Given the description of an element on the screen output the (x, y) to click on. 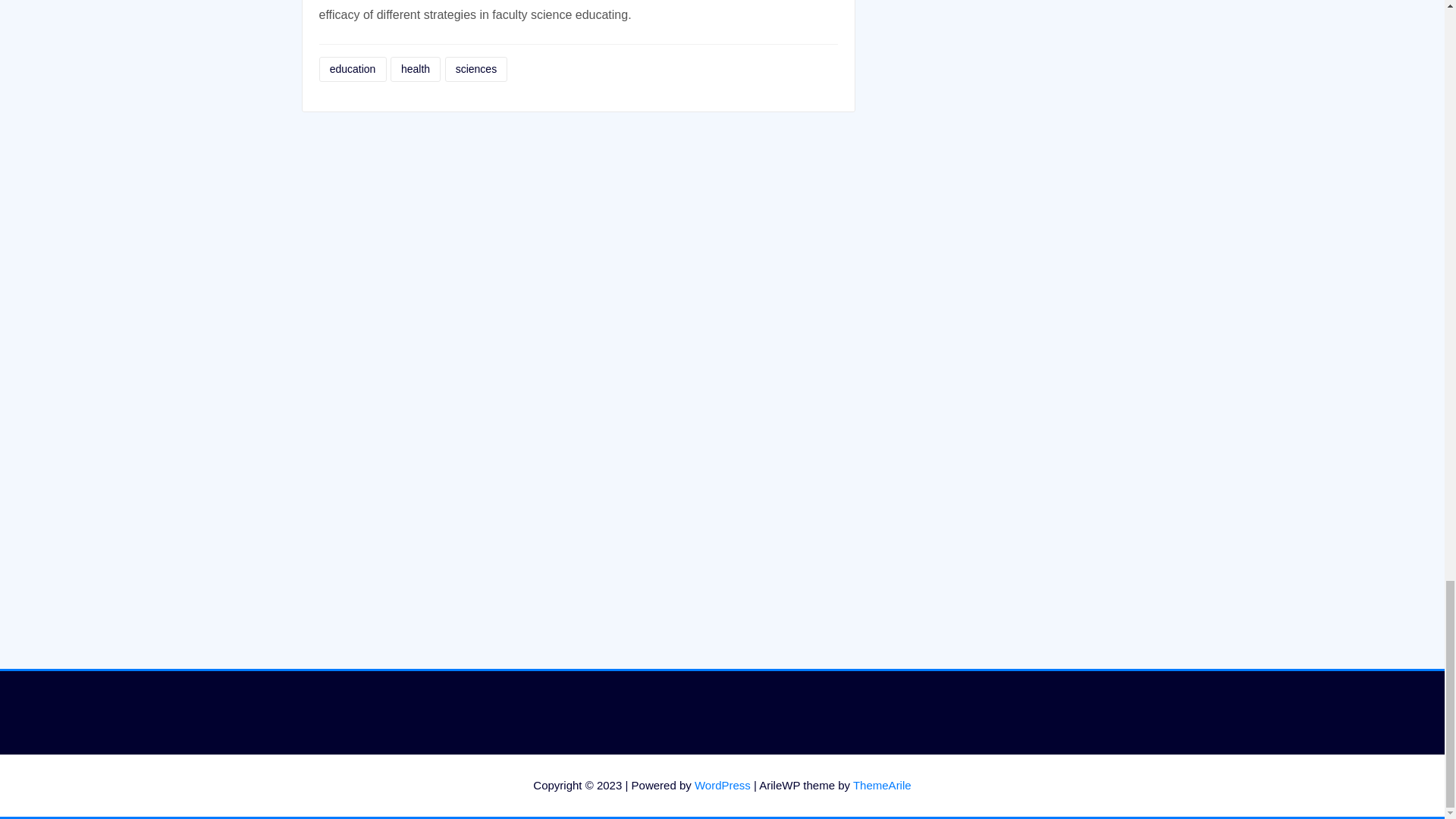
health (415, 68)
education (351, 68)
sciences (475, 68)
